Given the description of an element on the screen output the (x, y) to click on. 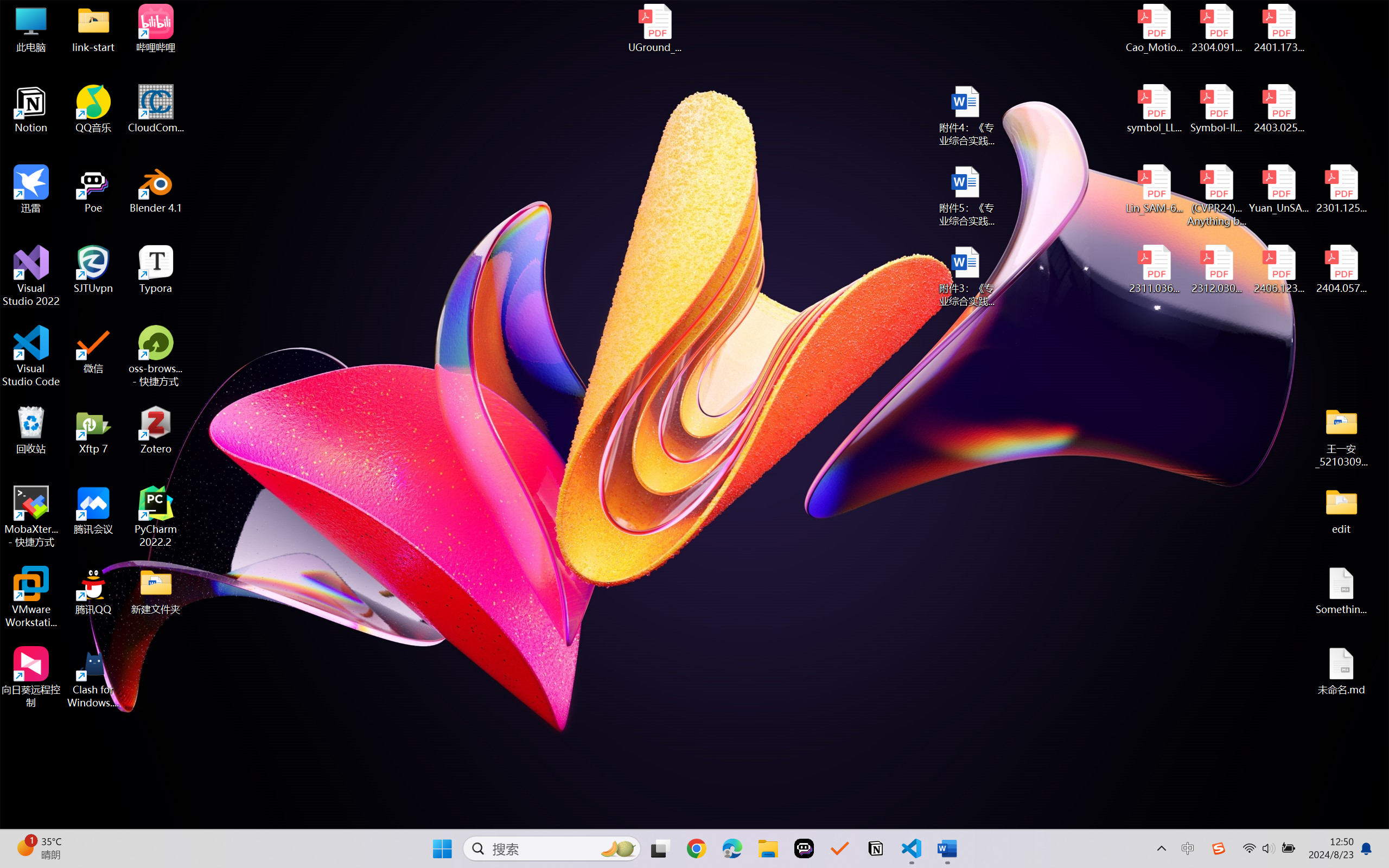
2311.03658v2.pdf (1154, 269)
PyCharm 2022.2 (156, 516)
2301.12597v3.pdf (1340, 189)
Visual Studio 2022 (31, 276)
2404.05719v1.pdf (1340, 269)
2403.02502v1.pdf (1278, 109)
VMware Workstation Pro (31, 597)
